Given the description of an element on the screen output the (x, y) to click on. 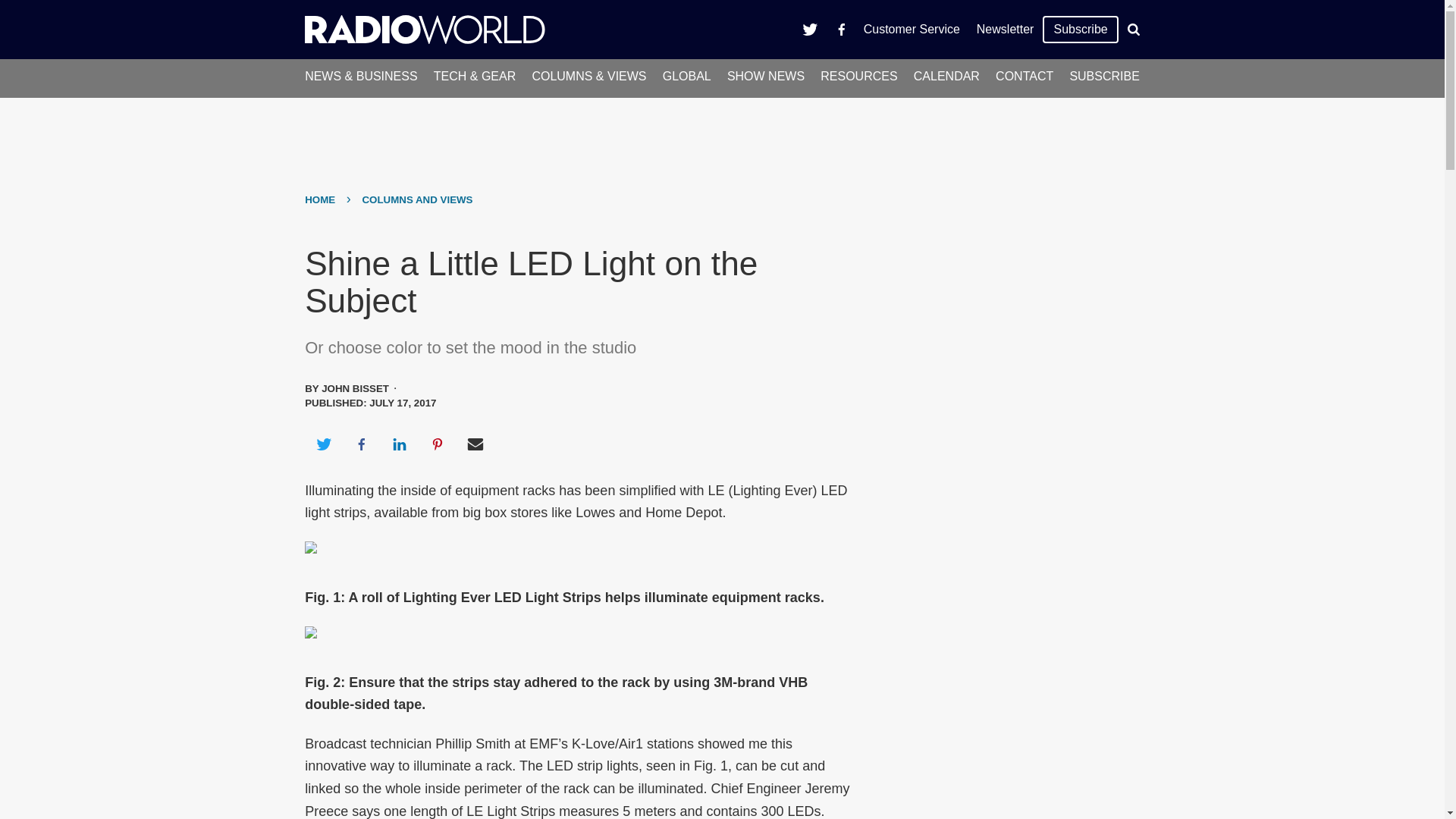
Share on LinkedIn (399, 444)
Share on Pinterest (438, 444)
Share on Facebook (361, 444)
Share on Twitter (323, 444)
Share via Email (476, 444)
Customer Service (912, 29)
